Given the description of an element on the screen output the (x, y) to click on. 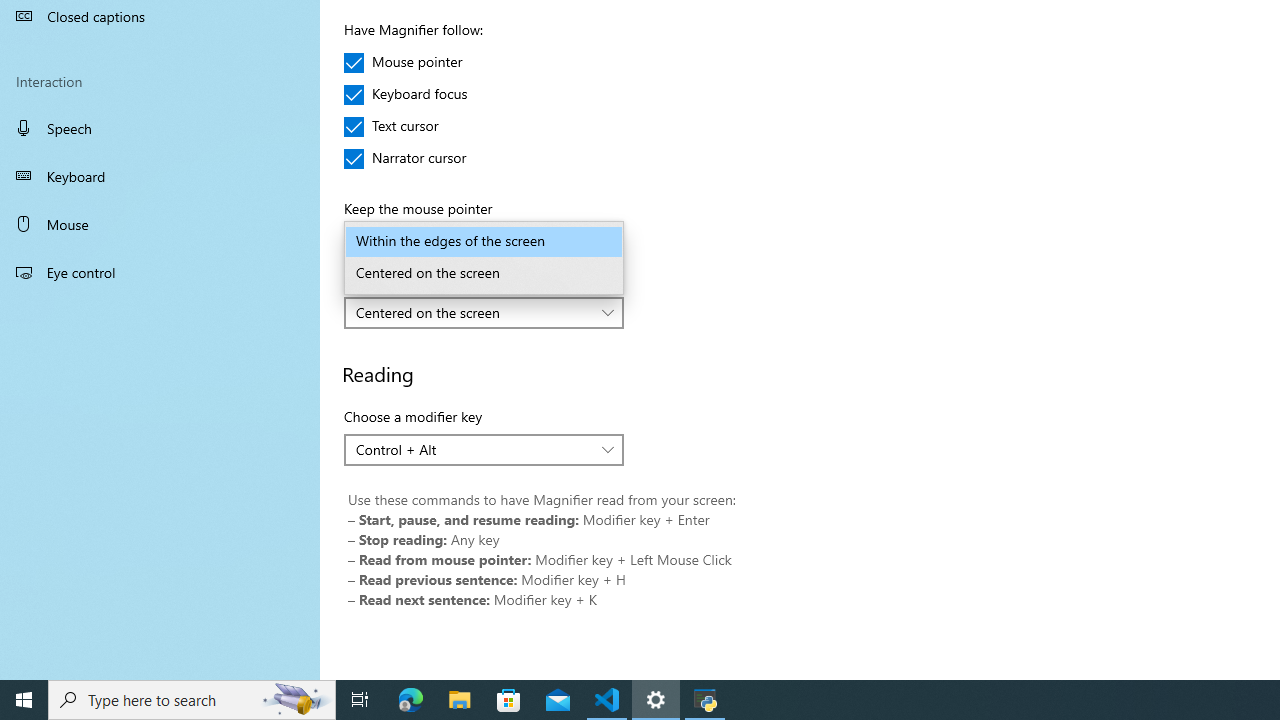
Python 3.10 (64-bit) - 1 running window (702, 699)
Start (24, 699)
Keep the mouse pointer (484, 241)
Search highlights icon opens search home window (295, 699)
Choose a modifier key (484, 449)
Speech (160, 127)
Task View (359, 699)
Control + Alt (473, 449)
Within the edges of the screen (484, 241)
Microsoft Store (509, 699)
Narrator cursor (405, 158)
Keep the text cursor (484, 312)
Keyboard (160, 175)
Keyboard focus (406, 94)
